Given the description of an element on the screen output the (x, y) to click on. 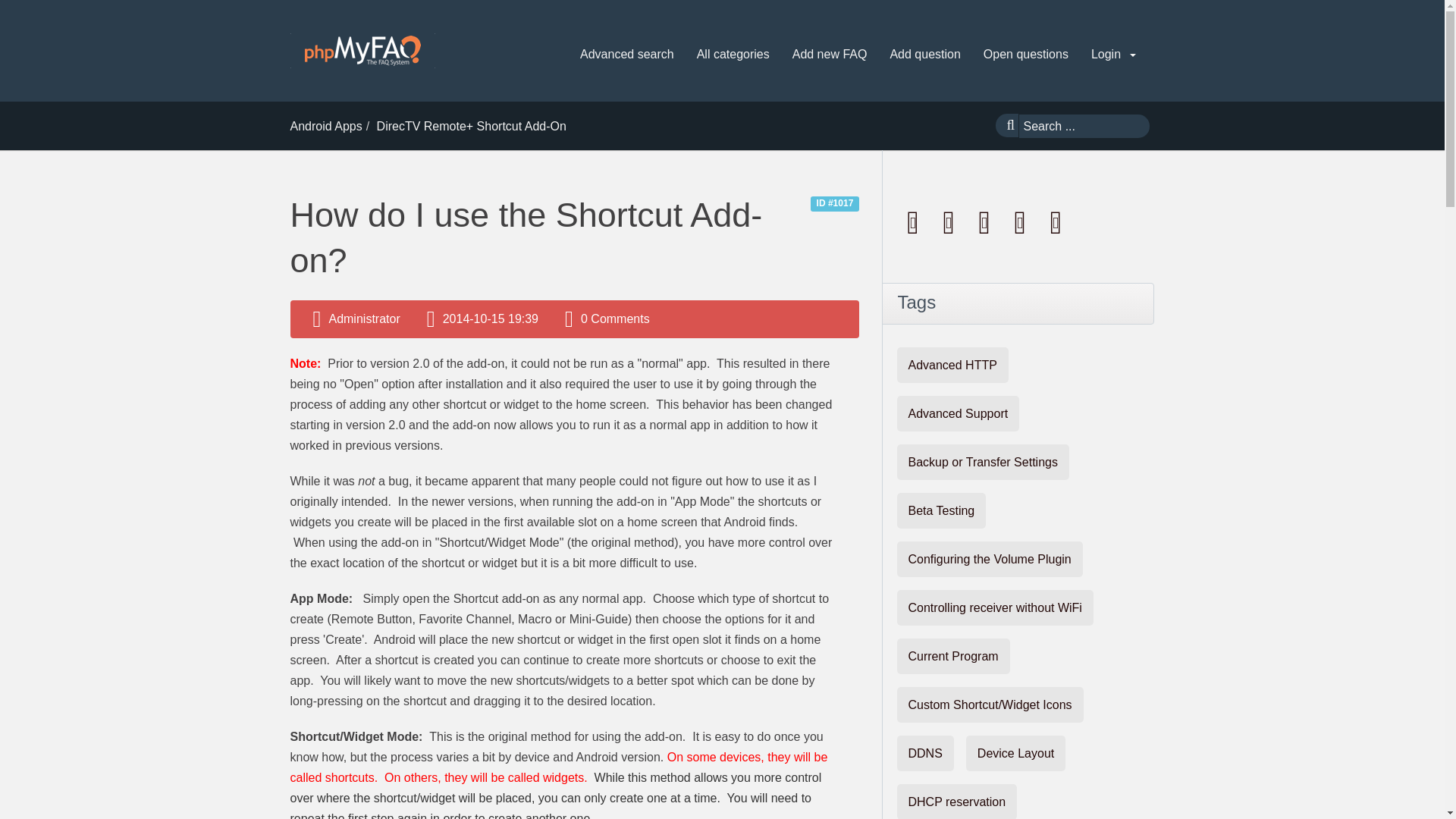
0 Comments (614, 318)
Beta Testing (940, 510)
Advanced HTTP (951, 365)
Print this record (950, 221)
Login (1112, 53)
FAQs for Android apps from Cognitial Mobile (325, 125)
Open questions (1025, 53)
Cognitial Software FAQs (361, 50)
All categories (732, 53)
Backup or Transfer Settings (982, 461)
Advanced search (626, 53)
Android Apps (325, 125)
Add question (925, 53)
Device Layout (1015, 753)
Configuring the Volume Plugin (988, 559)
